Given the description of an element on the screen output the (x, y) to click on. 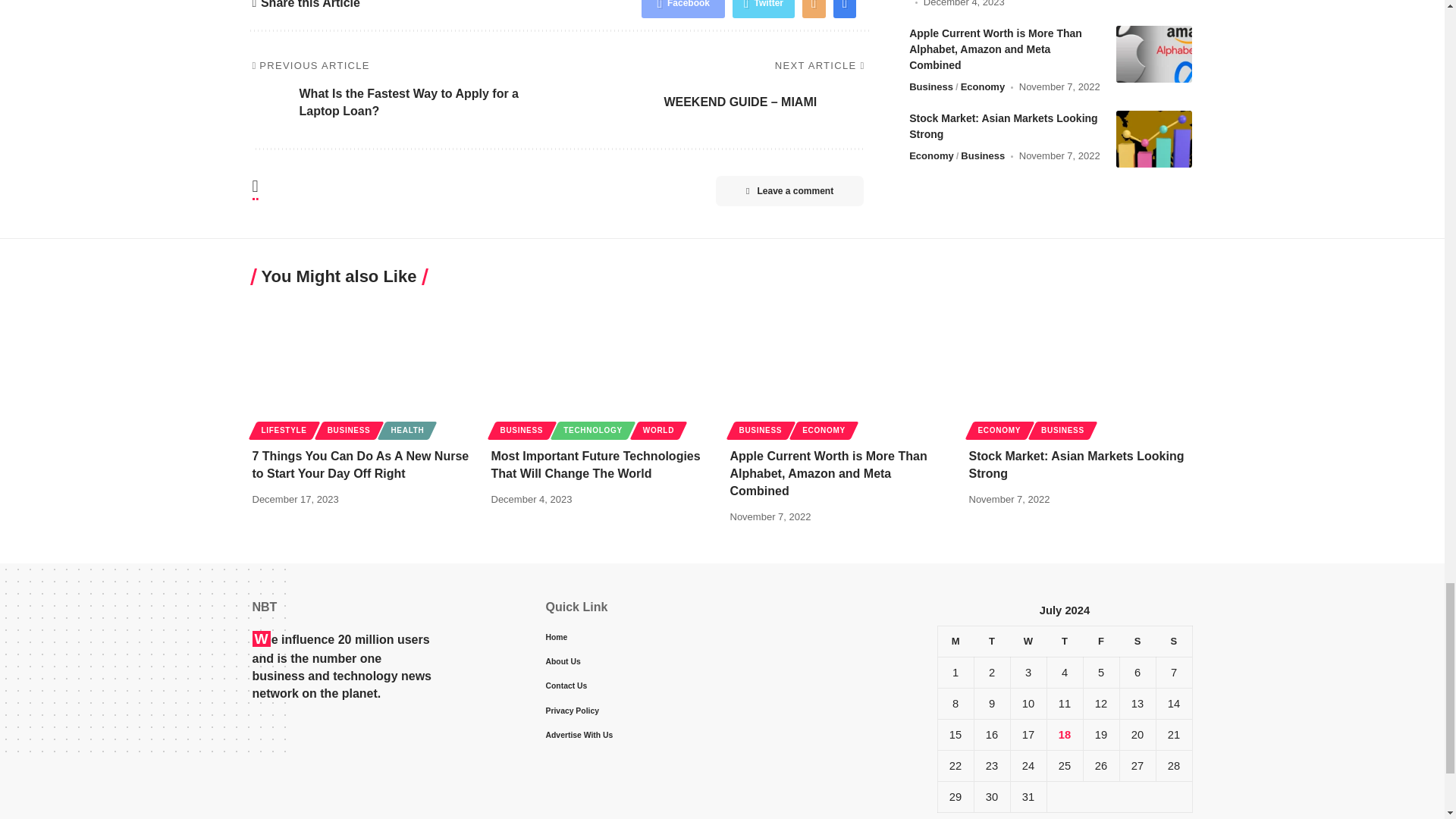
What Is the Fastest Way to Apply for a Laptop Loan? 3 (270, 102)
